Given the description of an element on the screen output the (x, y) to click on. 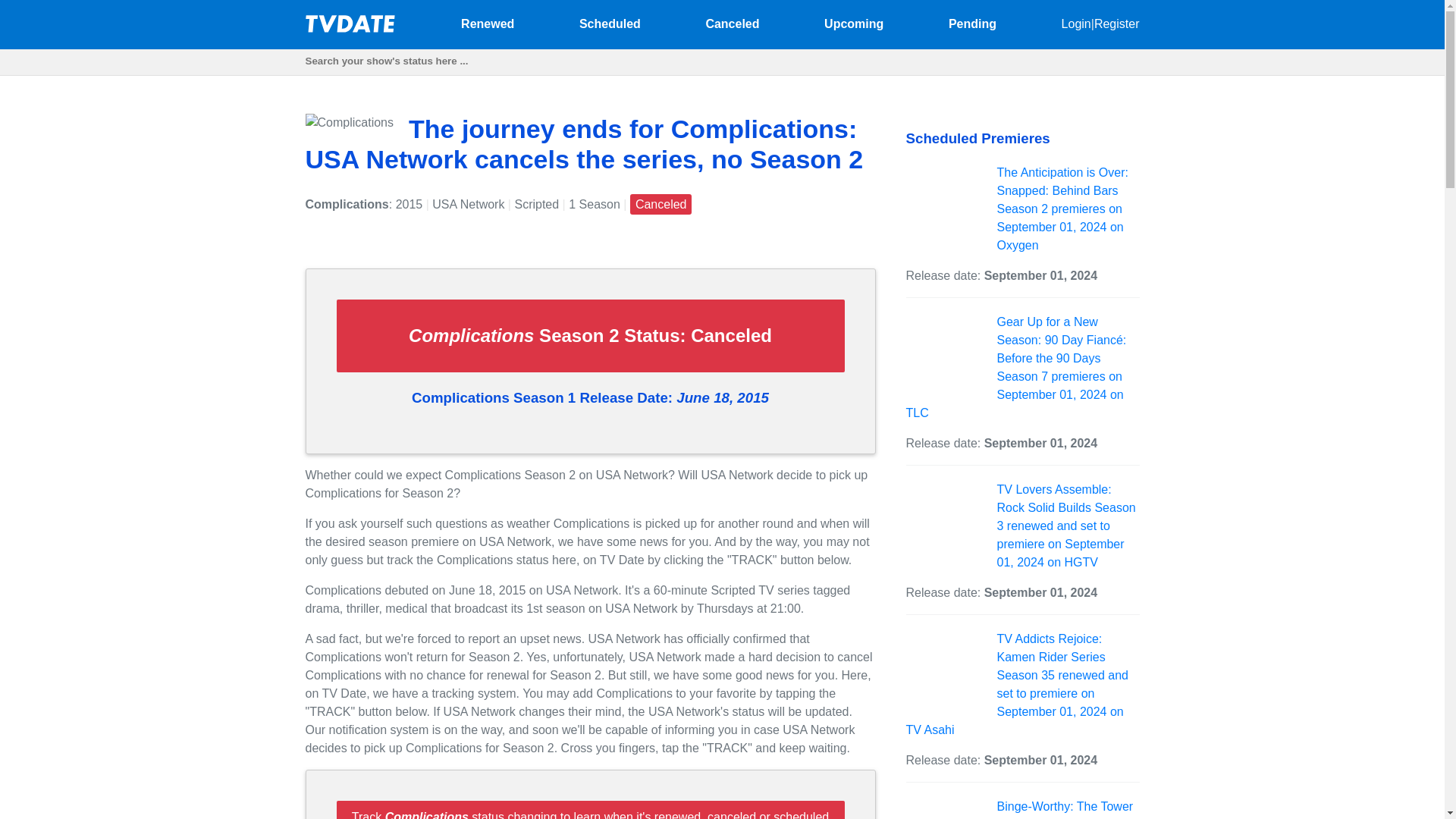
Renewed (487, 23)
Scheduled (609, 23)
Pending (972, 23)
Register (1117, 23)
Login (1075, 23)
Upcoming (853, 23)
Canceled (731, 23)
